Given the description of an element on the screen output the (x, y) to click on. 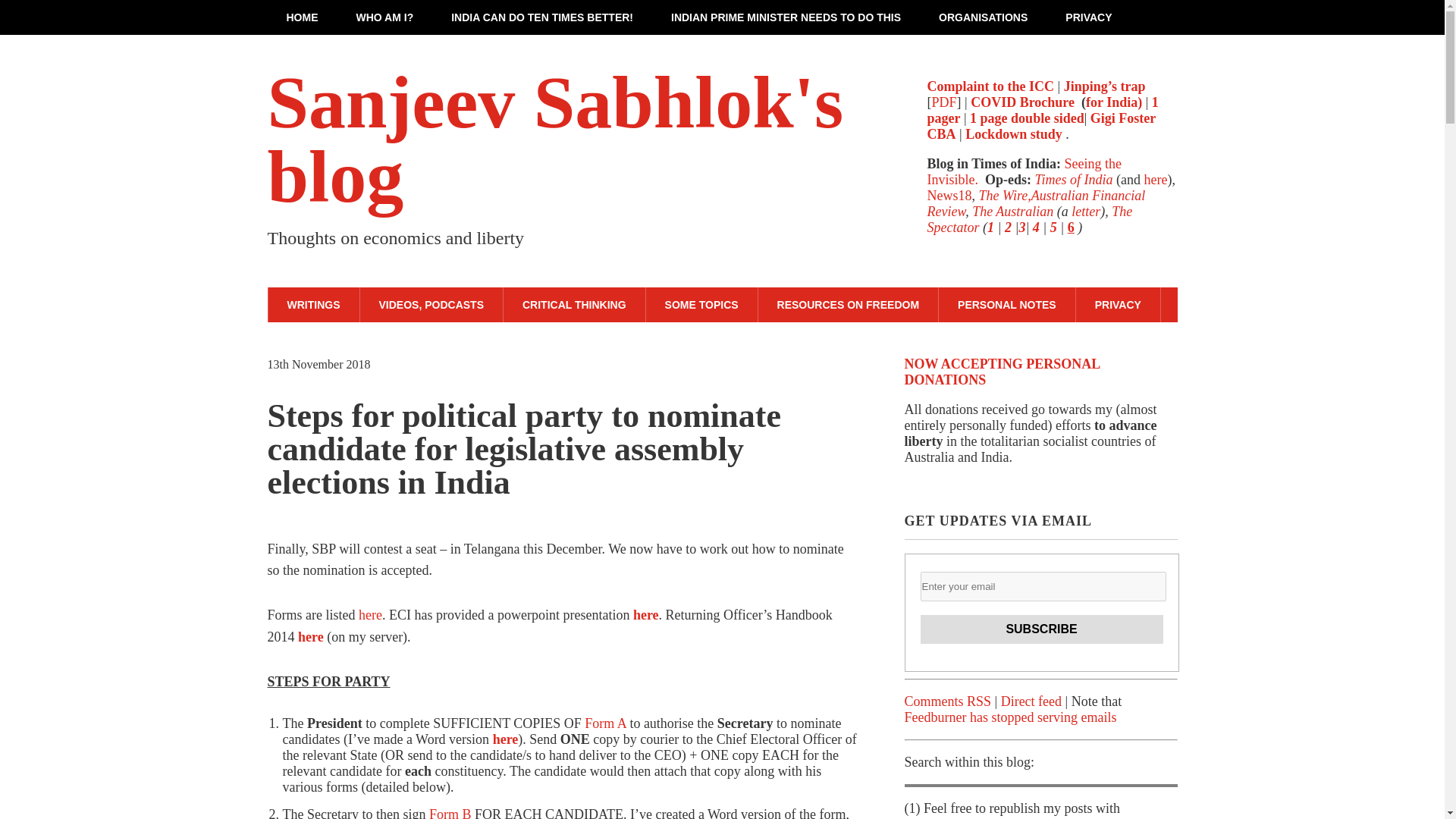
News18 (948, 195)
5 (1053, 227)
WHO AM I? (384, 17)
4 (1035, 227)
here (1155, 179)
WRITINGS (312, 304)
3 (1021, 227)
The Australian (1012, 211)
Gigi Foster CBA (1040, 125)
INDIA CAN DO TEN TIMES BETTER! (542, 17)
ORGANISATIONS (983, 17)
Complaint to the ICC (990, 86)
HOME (301, 17)
The Wire, (1004, 195)
6 (1070, 227)
